Given the description of an element on the screen output the (x, y) to click on. 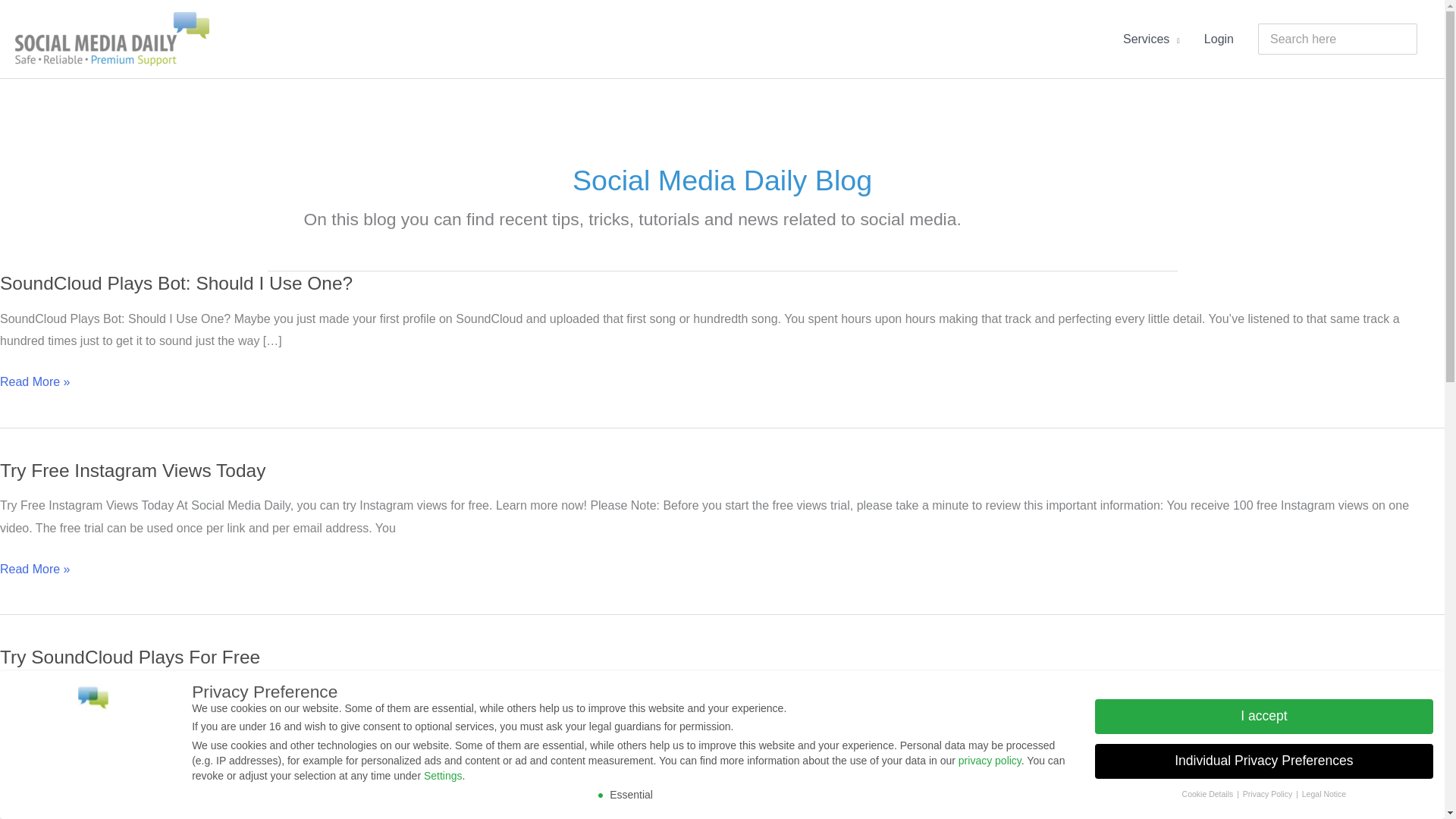
Services (1151, 39)
Login (1219, 39)
SoundCloud Plays Bot: Should I Use One? (176, 282)
Try Free Instagram Views Today (132, 470)
Try SoundCloud Plays For Free (130, 657)
